Given the description of an element on the screen output the (x, y) to click on. 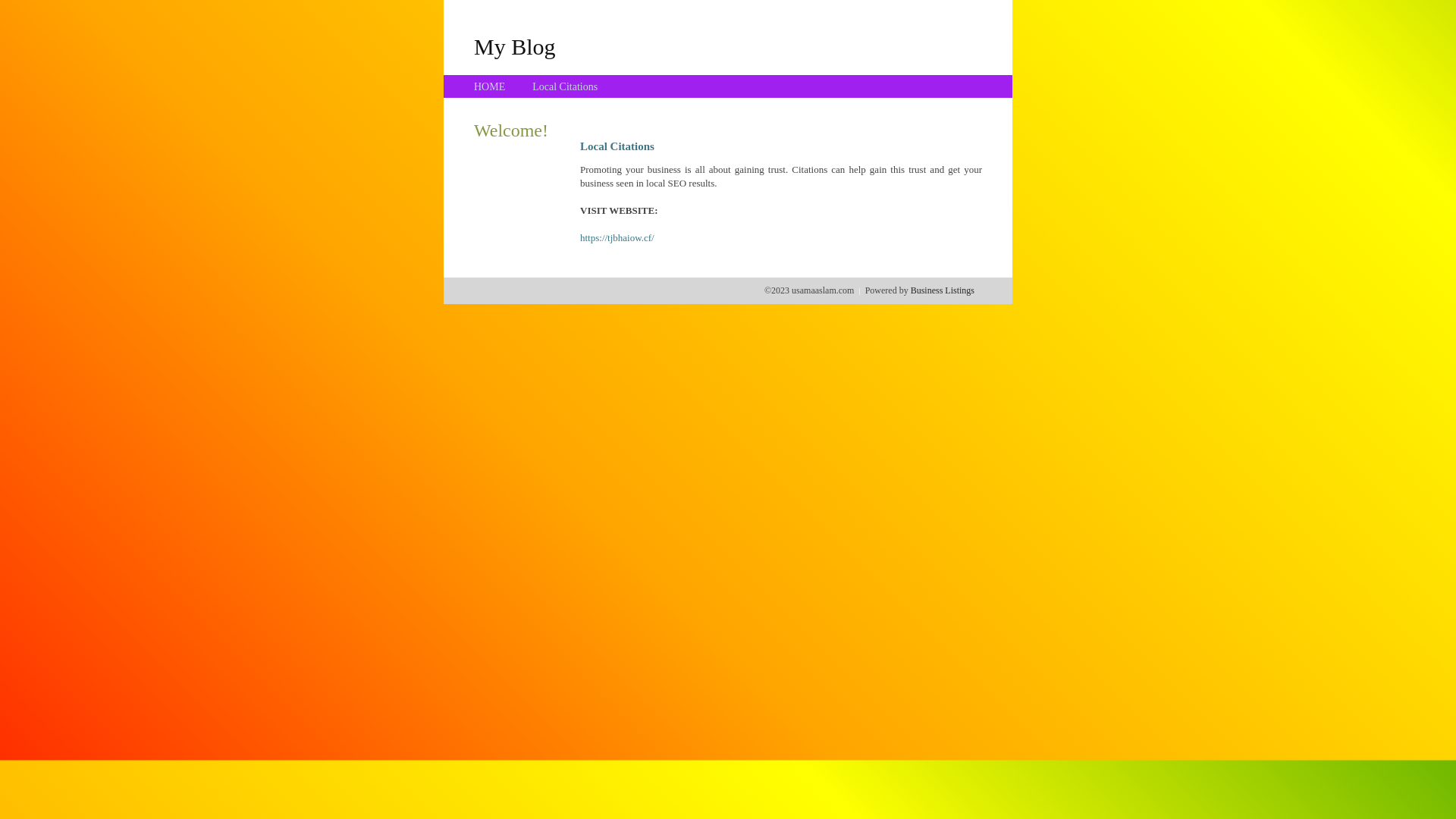
HOME Element type: text (489, 86)
My Blog Element type: text (514, 46)
Business Listings Element type: text (942, 290)
Local Citations Element type: text (564, 86)
https://tjbhaiow.cf/ Element type: text (617, 237)
